Given the description of an element on the screen output the (x, y) to click on. 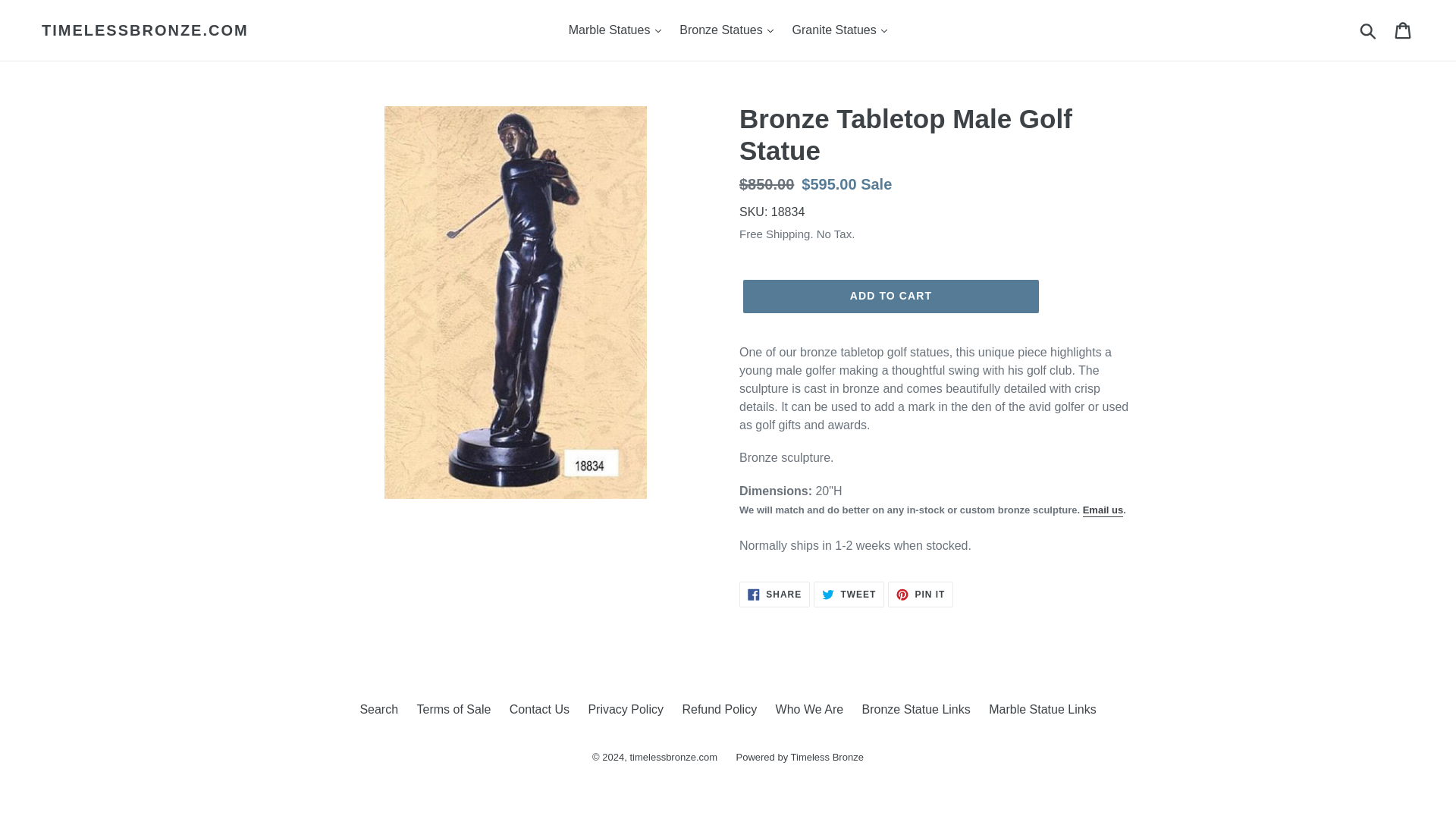
TIMELESSBRONZE.COM (145, 30)
